Given the description of an element on the screen output the (x, y) to click on. 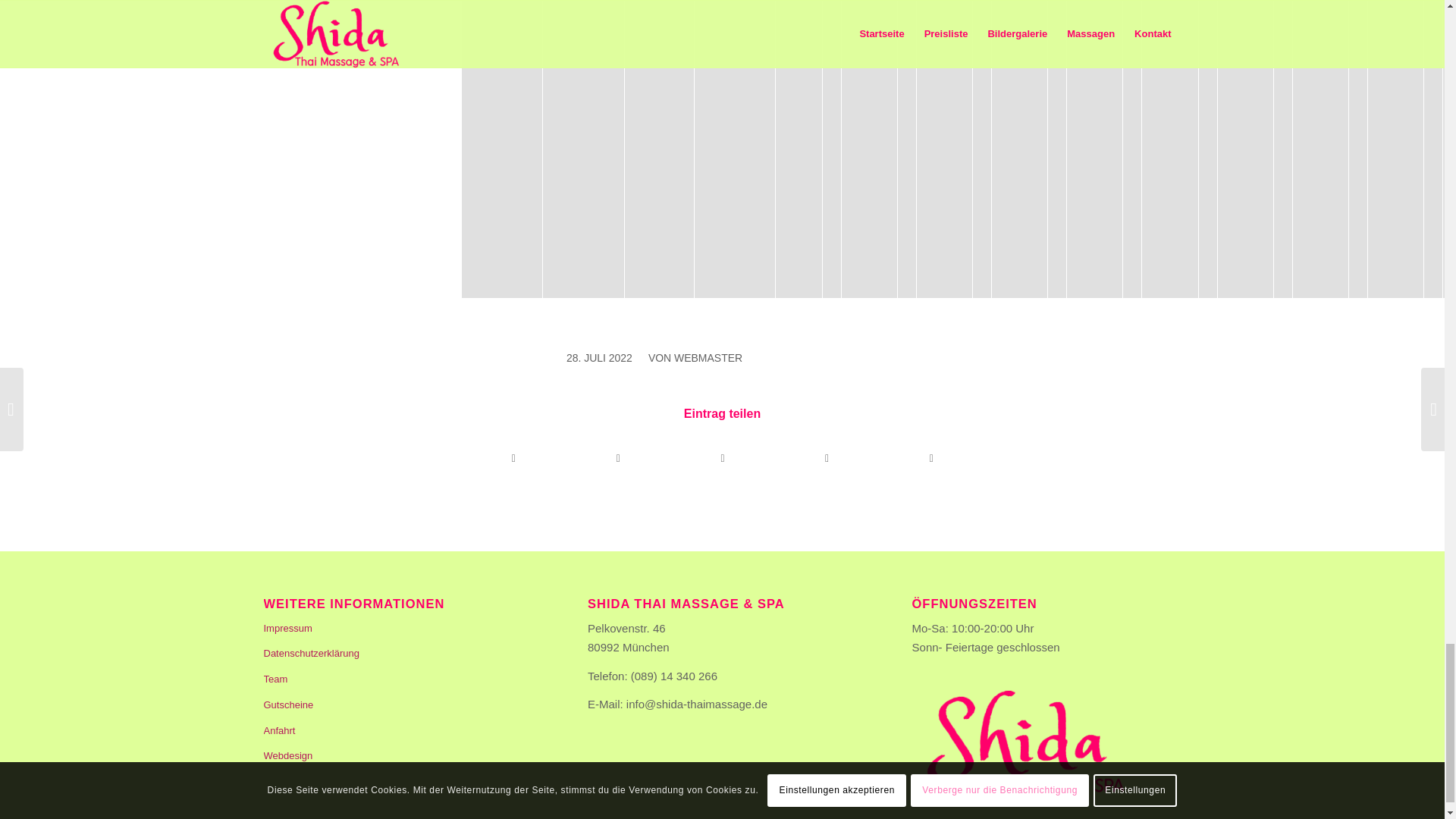
Team (397, 679)
Anfahrt (397, 731)
Webdesign (397, 756)
Impressum (397, 629)
Gutscheine (397, 705)
WEBMASTER (708, 357)
